Given the description of an element on the screen output the (x, y) to click on. 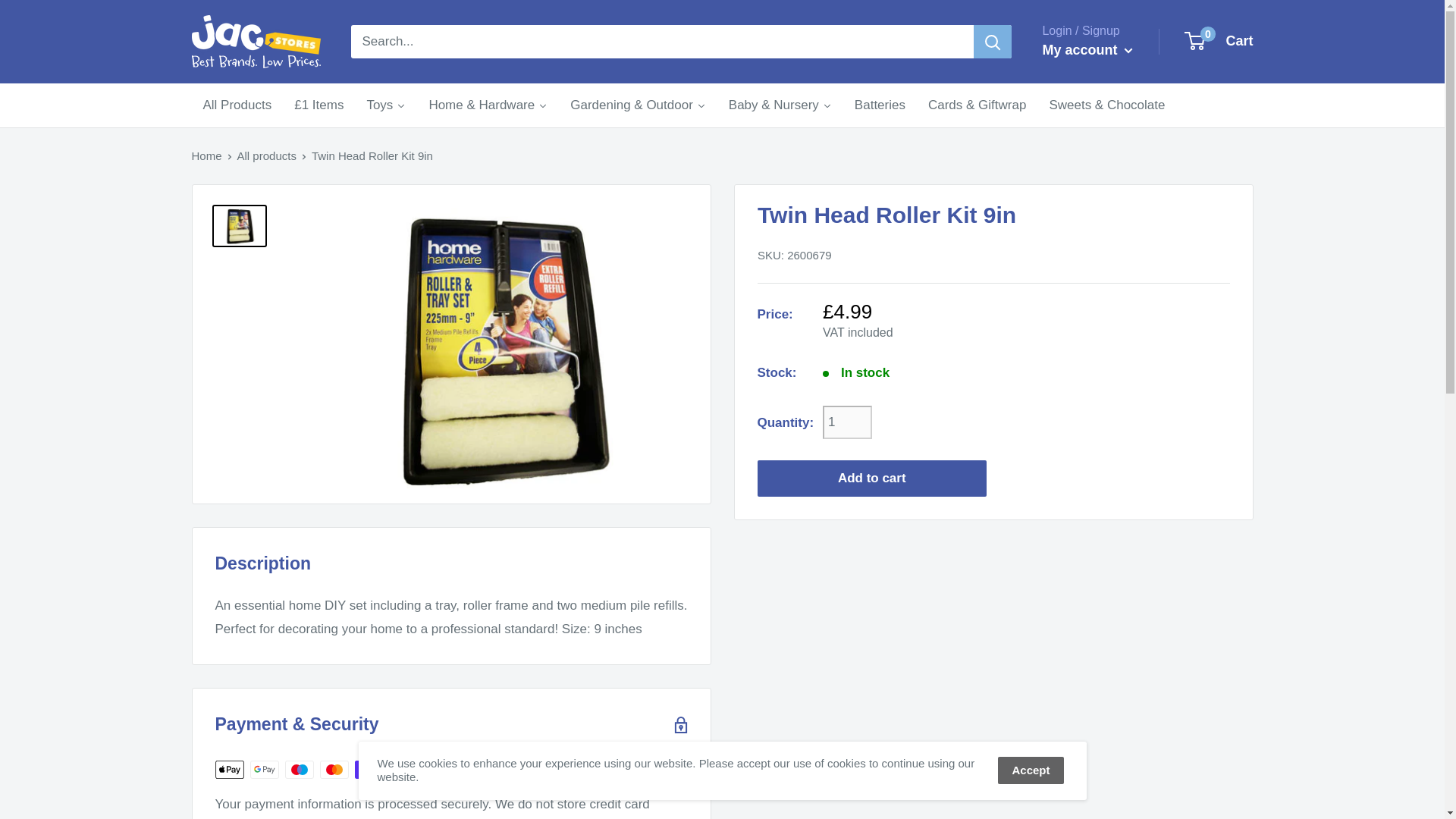
Toys (385, 105)
Batteries (880, 105)
All Products (236, 105)
1 (847, 421)
